Given the description of an element on the screen output the (x, y) to click on. 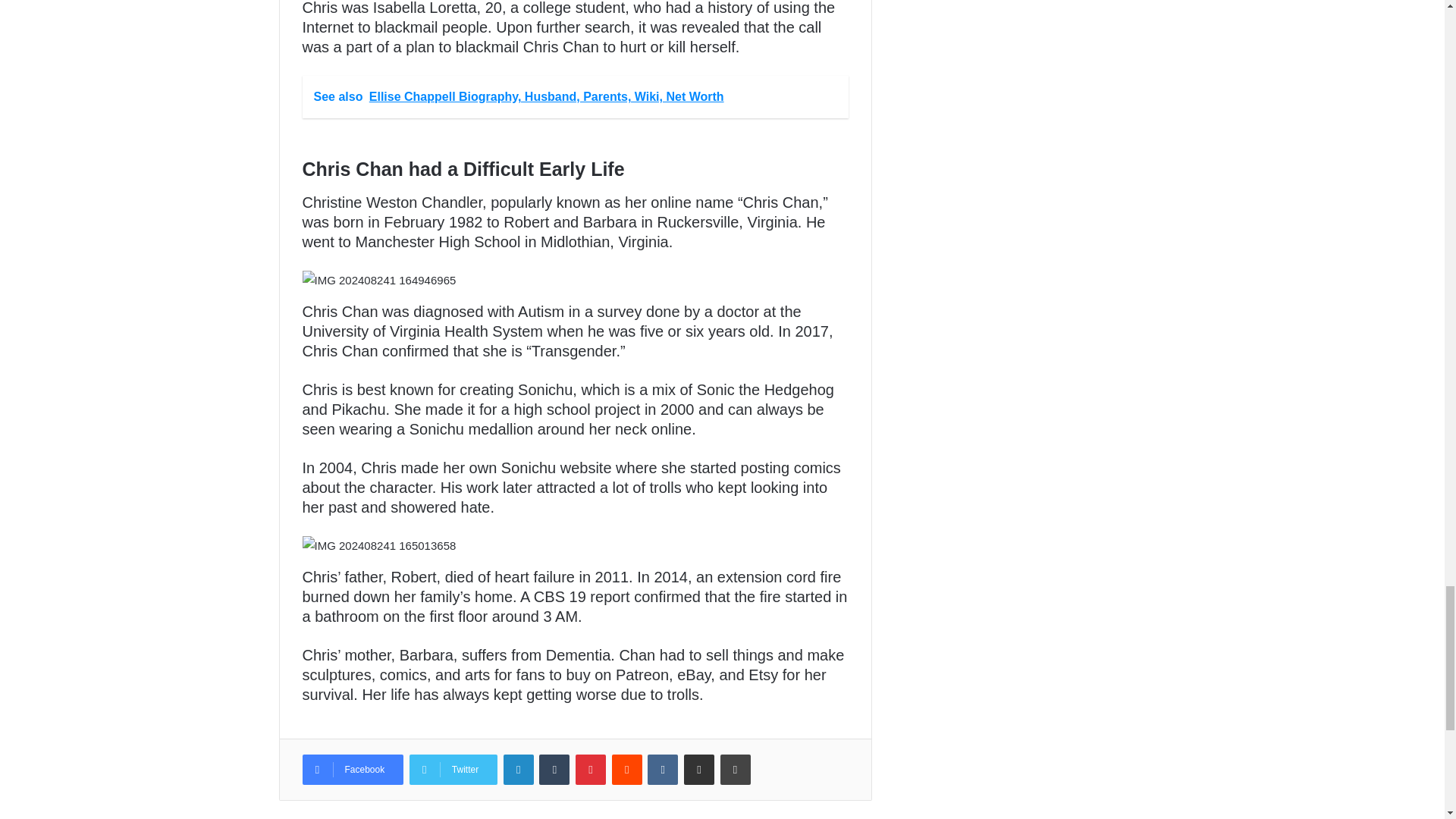
Tumblr (553, 769)
Twitter (453, 769)
LinkedIn (518, 769)
Pinterest (590, 769)
Facebook (352, 769)
Share via Email (699, 769)
Reddit (626, 769)
